Given the description of an element on the screen output the (x, y) to click on. 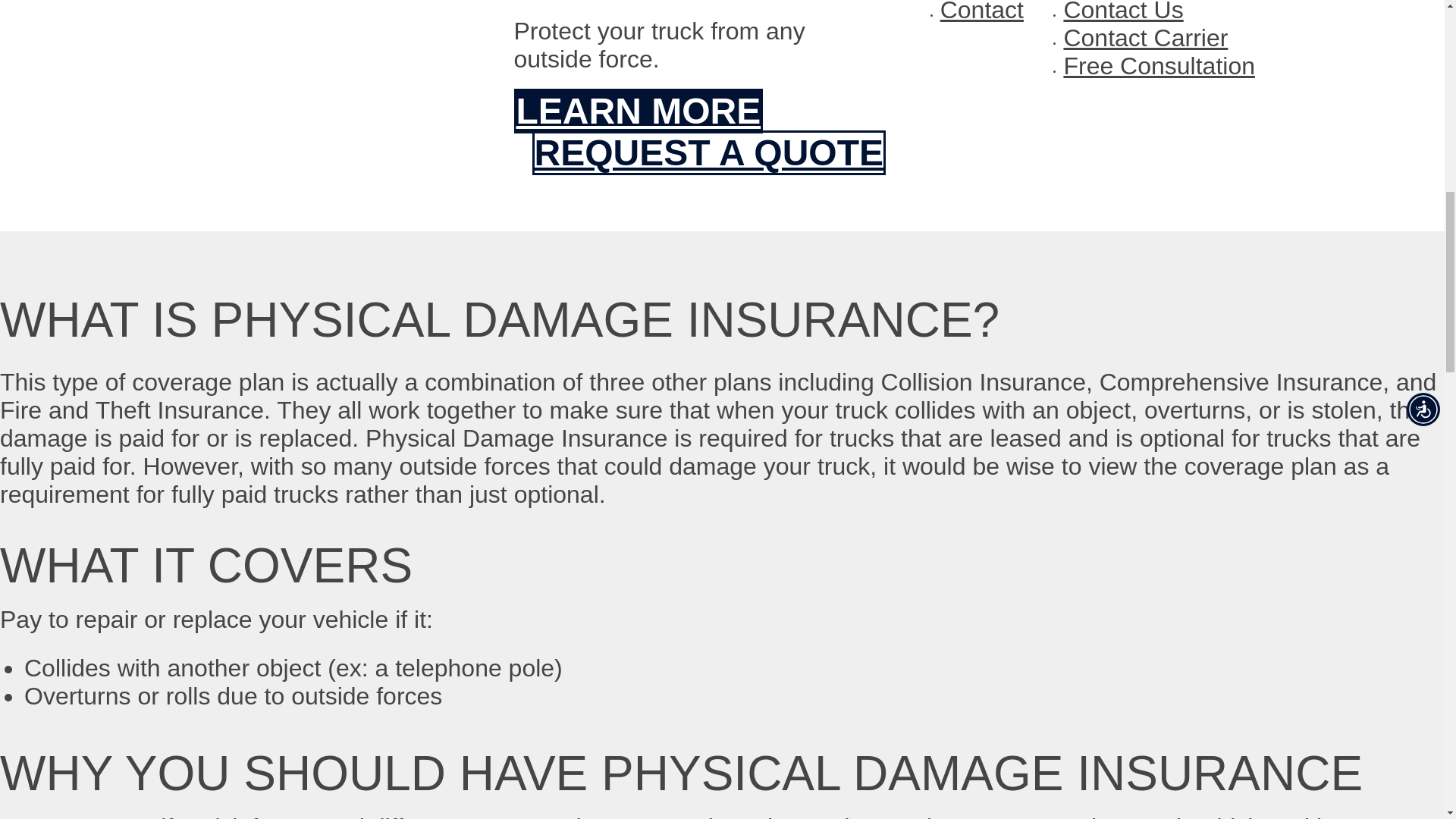
Contact Us (1122, 11)
Contact Carrier (1144, 37)
LEARN MORE (637, 110)
REQUEST A QUOTE (708, 152)
Contact (981, 11)
Free Consultation (1158, 65)
